Given the description of an element on the screen output the (x, y) to click on. 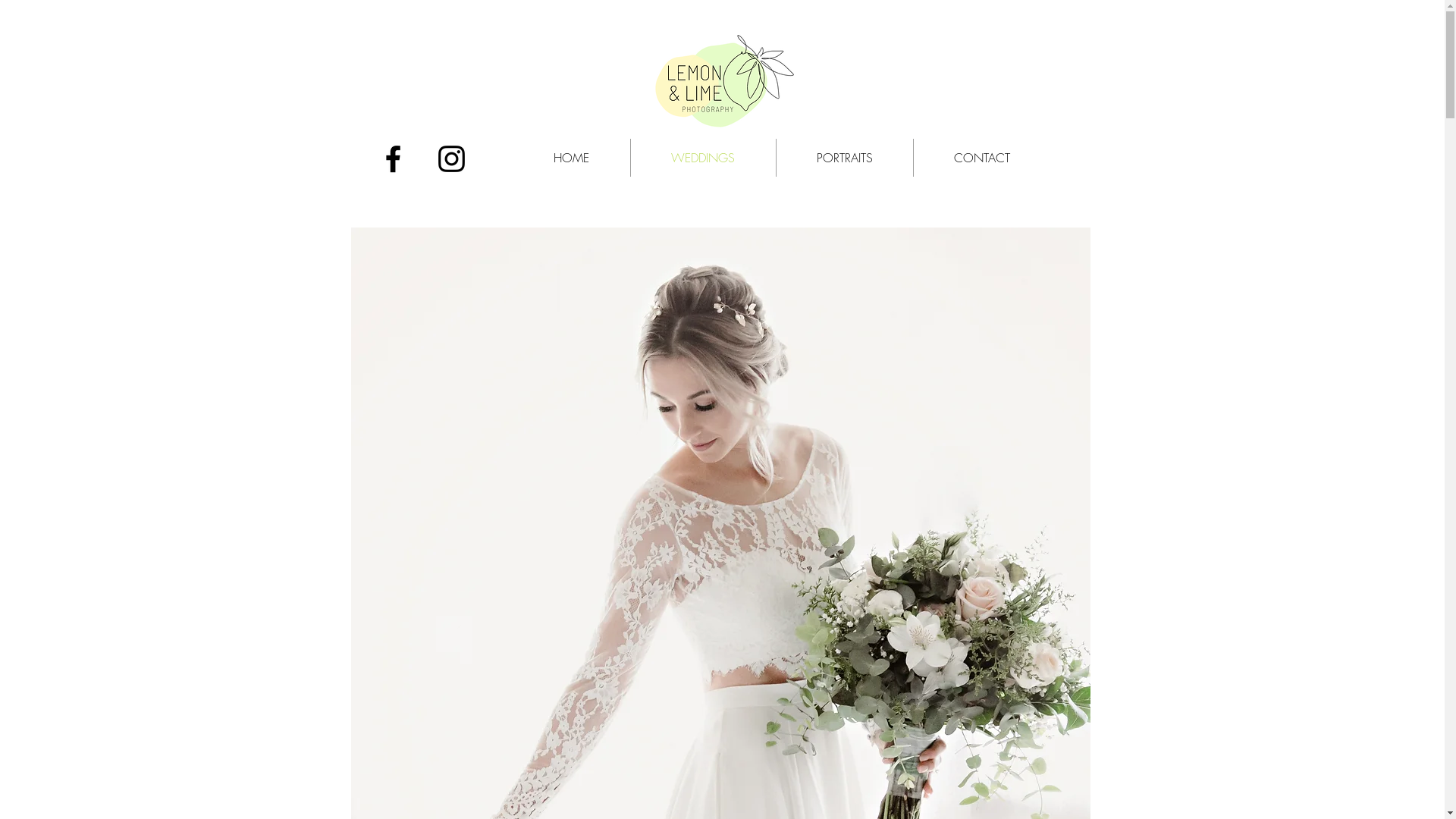
CONTACT Element type: text (981, 157)
PORTRAITS Element type: text (844, 157)
WEDDINGS Element type: text (702, 157)
HOME Element type: text (570, 157)
Lemon & Lime Logo.jpg Element type: hover (721, 78)
